Given the description of an element on the screen output the (x, y) to click on. 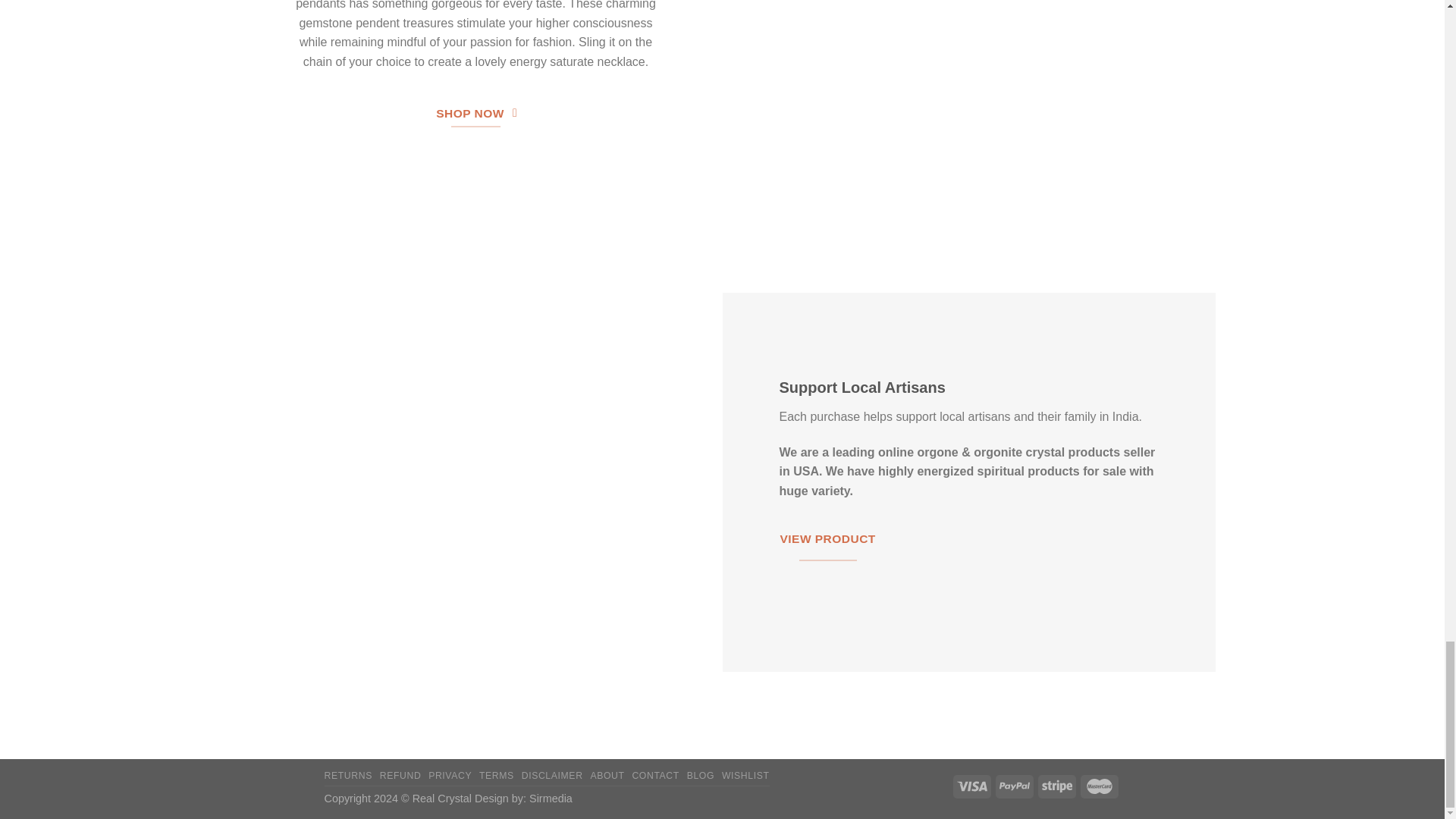
Web Development Company in Ahmedabad (550, 798)
